Given the description of an element on the screen output the (x, y) to click on. 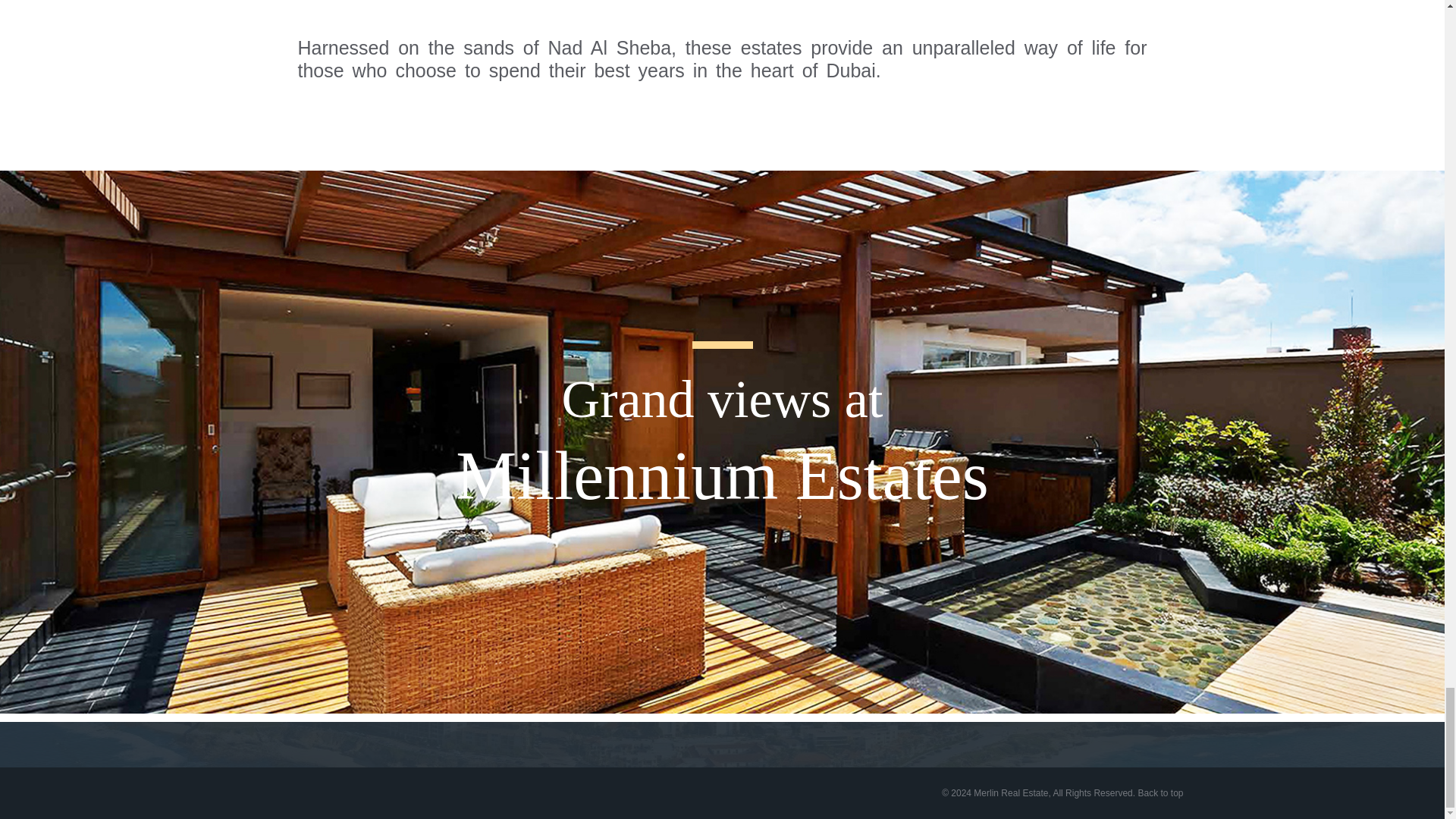
Back to top (1159, 792)
